Given the description of an element on the screen output the (x, y) to click on. 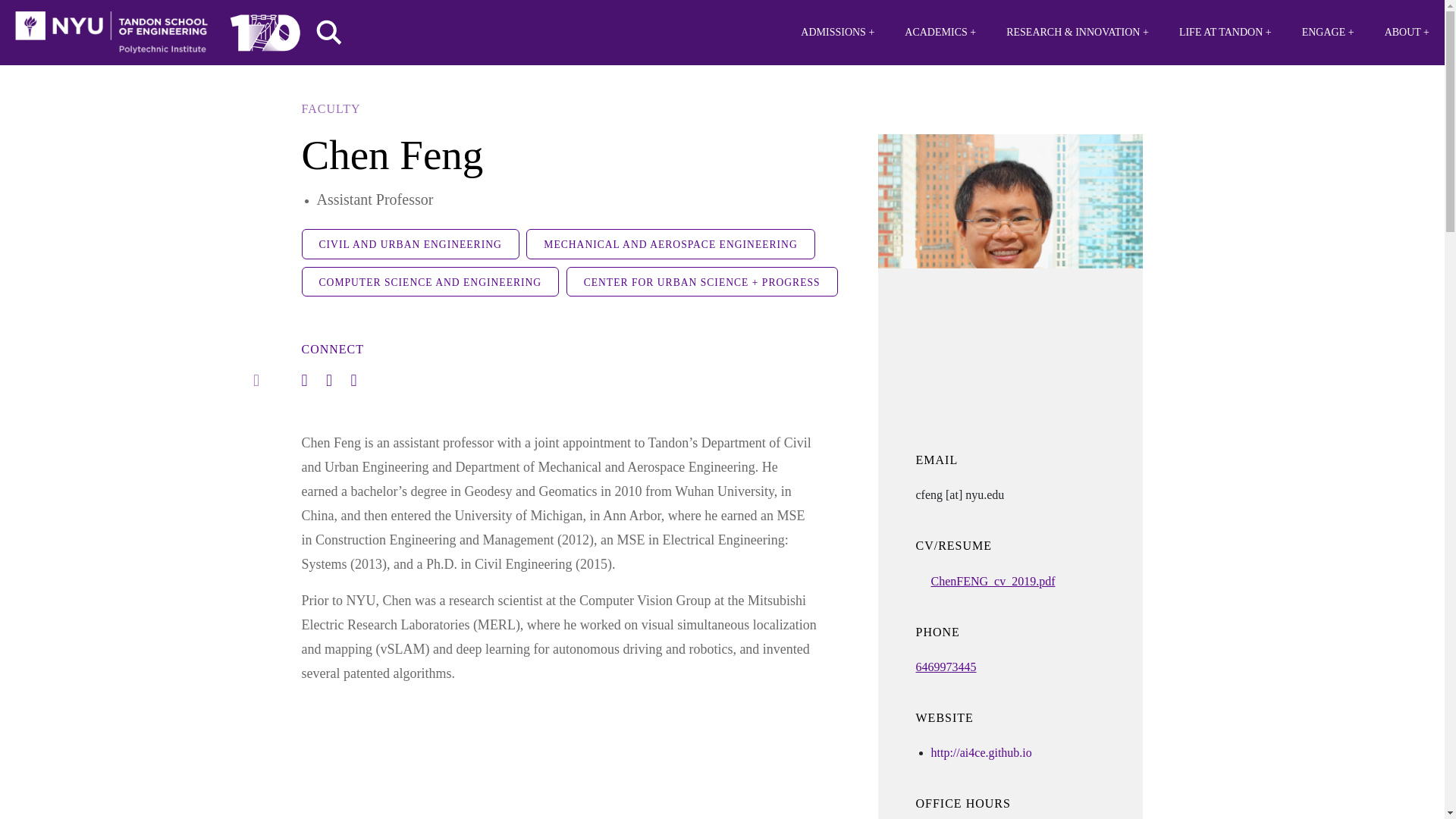
NYU Tandon Logo (111, 32)
NYU Tandon Anniversary (264, 29)
NYU Tandon School of Engineering - Polytechnic Institute (111, 32)
CIVIL AND URBAN ENGINEERING (410, 243)
MECHANICAL AND AEROSPACE ENGINEERING (669, 243)
COMPUTER SCIENCE AND ENGINEERING (430, 281)
